Given the description of an element on the screen output the (x, y) to click on. 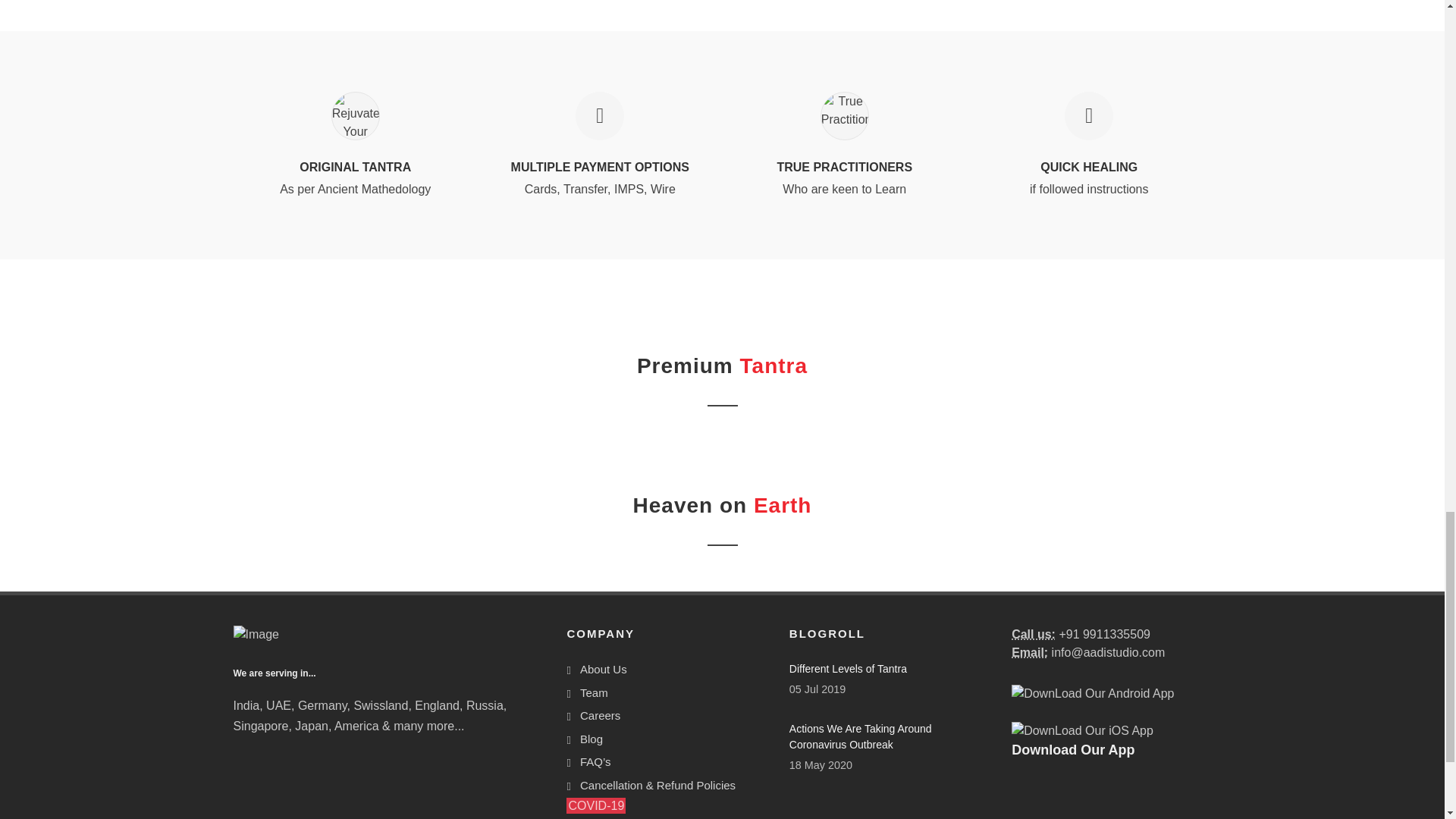
DownLoad Our App (1092, 693)
DownLoad Our App (1082, 730)
Phone Number (1033, 634)
Email Address (1029, 652)
